Given the description of an element on the screen output the (x, y) to click on. 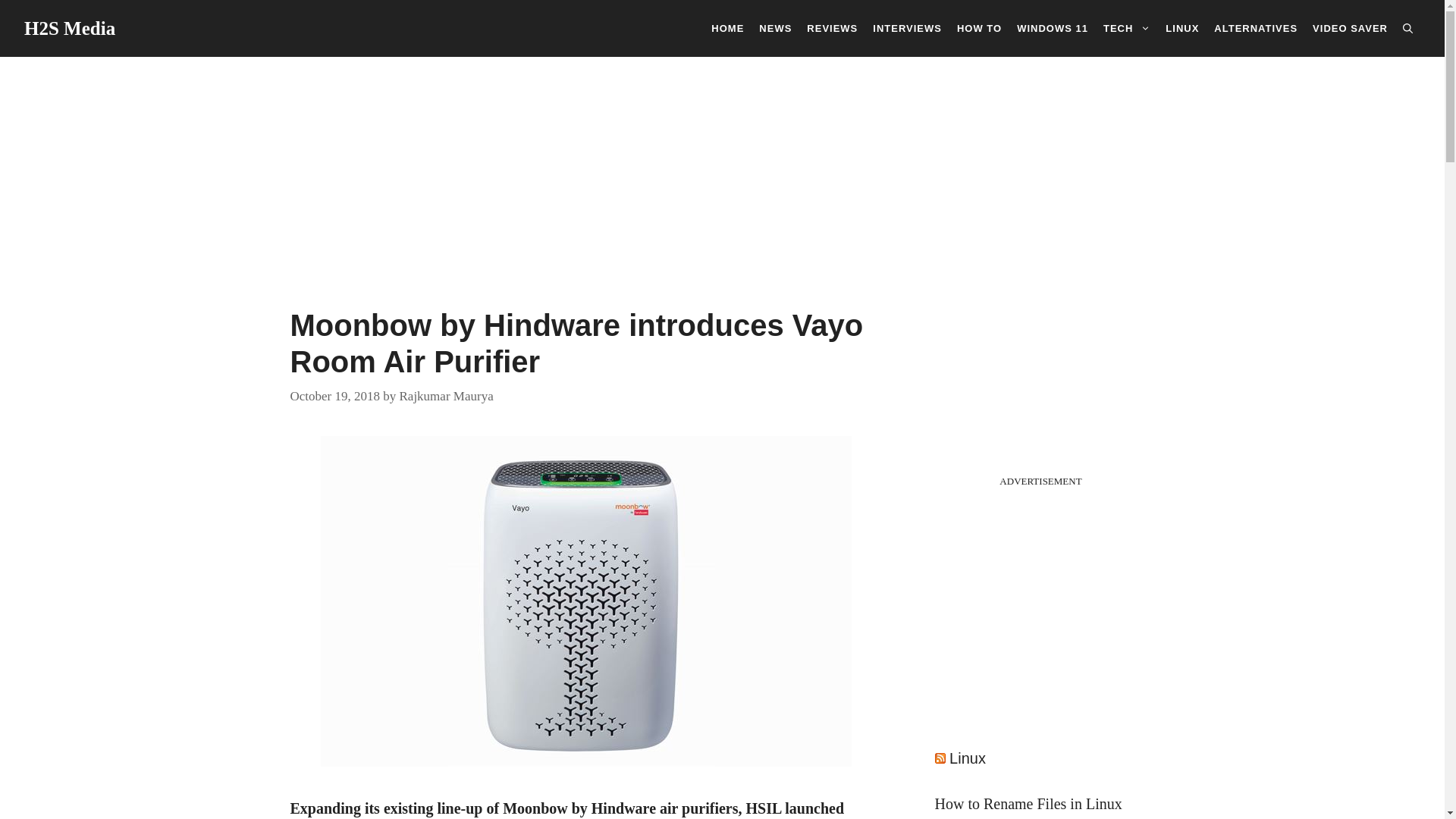
H2S Media (69, 28)
Rajkumar Maurya (445, 395)
TECH (1126, 27)
INTERVIEWS (906, 27)
ALTERNATIVES (1255, 27)
WINDOWS 11 (1052, 27)
HOME (727, 27)
LINUX (1182, 27)
NEWS (775, 27)
REVIEWS (831, 27)
HOW TO (979, 27)
VIDEO SAVER (1349, 27)
View all posts by Rajkumar Maurya (445, 395)
